Given the description of an element on the screen output the (x, y) to click on. 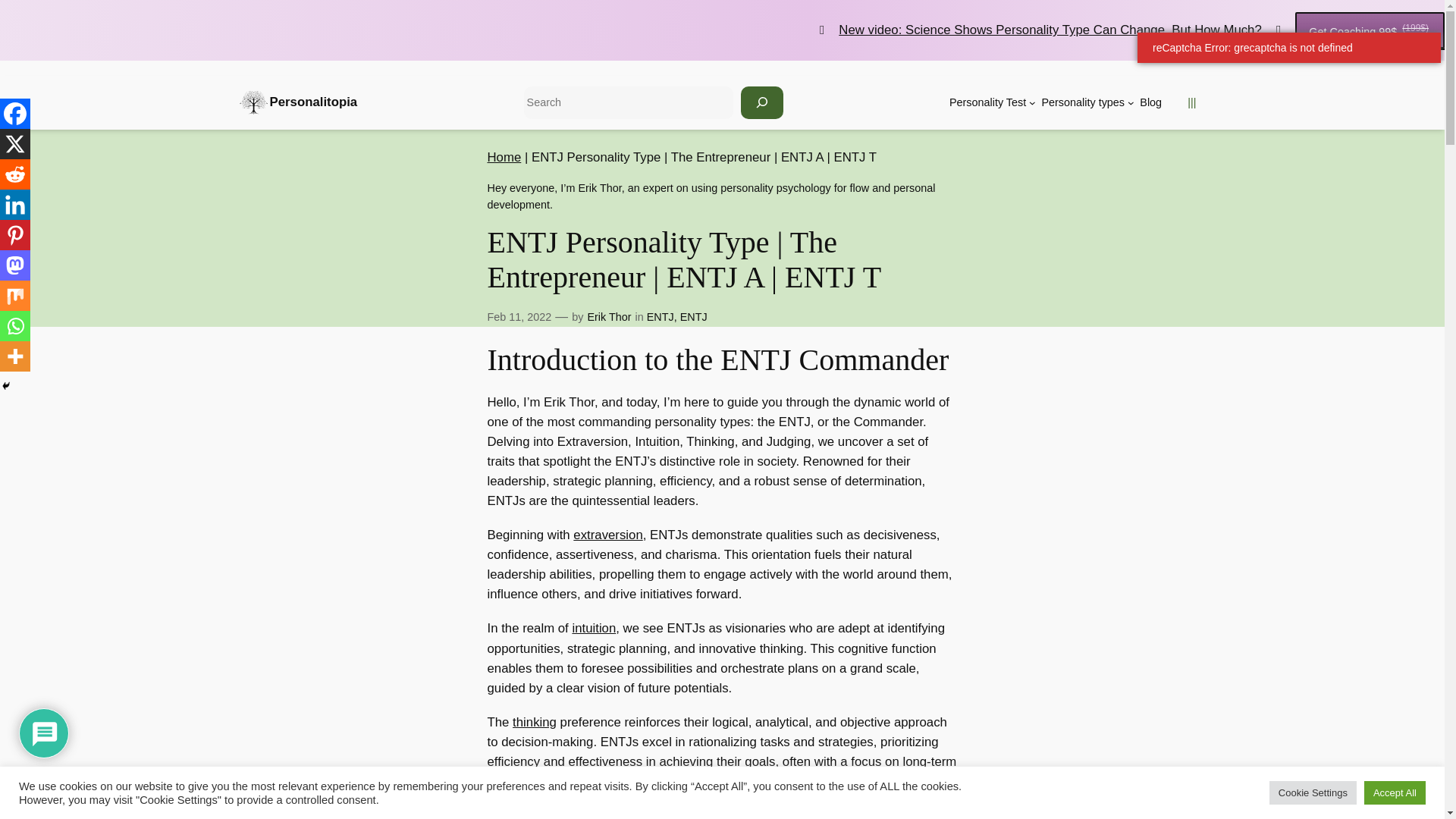
Erik Thor (608, 316)
Personalitopia (313, 101)
Reddit (15, 173)
ENTJ (693, 316)
Home (503, 156)
thinking (534, 721)
Personality types (1082, 102)
Blog (1150, 102)
Personality Test (987, 102)
Feb 11, 2022 (518, 316)
judging (577, 813)
intuition (593, 627)
X (15, 143)
Facebook (15, 113)
